Given the description of an element on the screen output the (x, y) to click on. 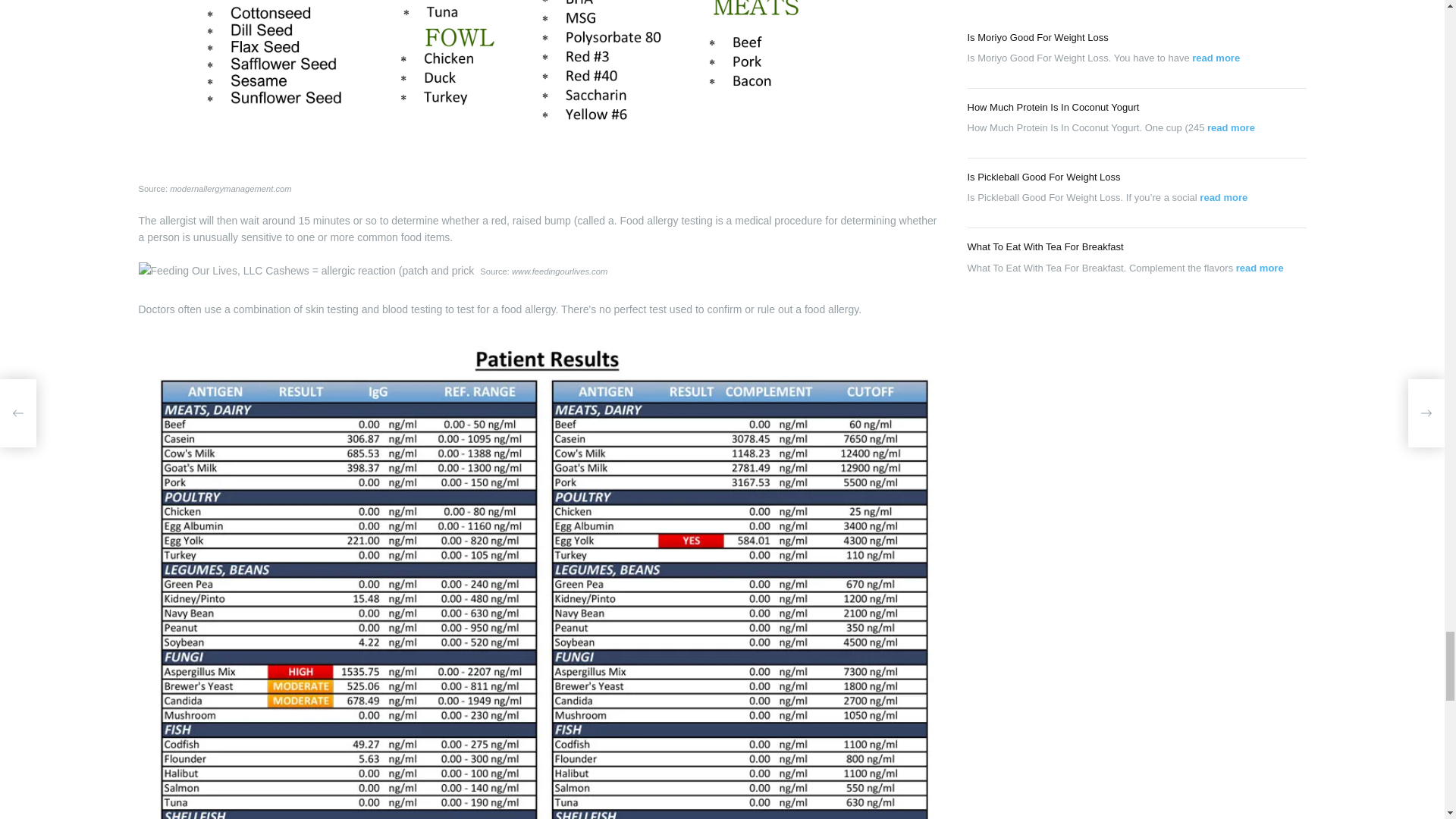
What Food Allergies Do They Test For 50 (306, 270)
